Given the description of an element on the screen output the (x, y) to click on. 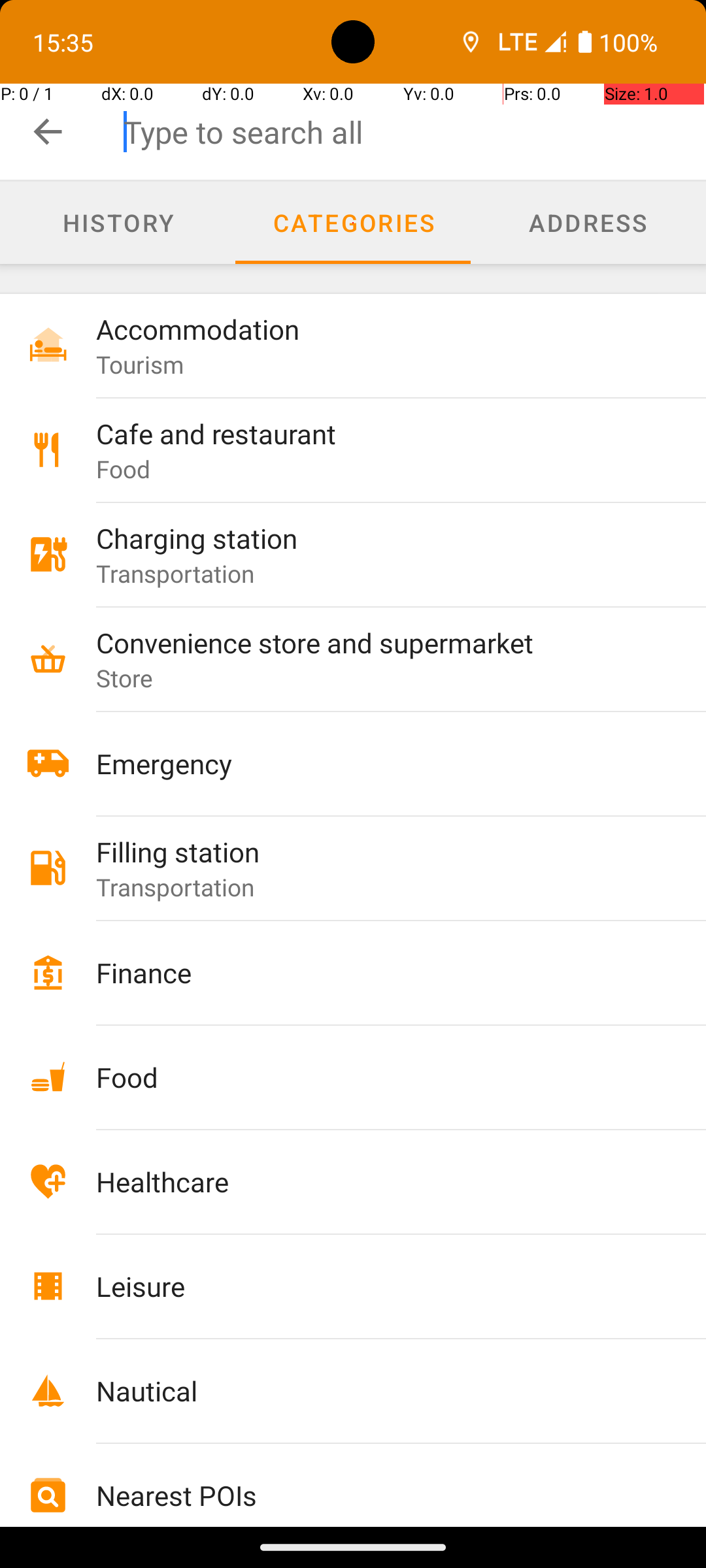
Accommodation Element type: android.widget.TextView (373, 328)
Tourism Element type: android.widget.TextView (140, 363)
Cafe and restaurant Element type: android.widget.TextView (373, 433)
Charging station Element type: android.widget.TextView (373, 537)
Convenience store and supermarket Element type: android.widget.TextView (373, 642)
Store Element type: android.widget.TextView (124, 677)
Emergency Element type: android.widget.TextView (373, 763)
Filling station Element type: android.widget.TextView (373, 851)
Healthcare Element type: android.widget.TextView (373, 1181)
Leisure Element type: android.widget.TextView (373, 1285)
Nautical Element type: android.widget.TextView (373, 1390)
Nearest POIs Element type: android.widget.TextView (373, 1494)
